Given the description of an element on the screen output the (x, y) to click on. 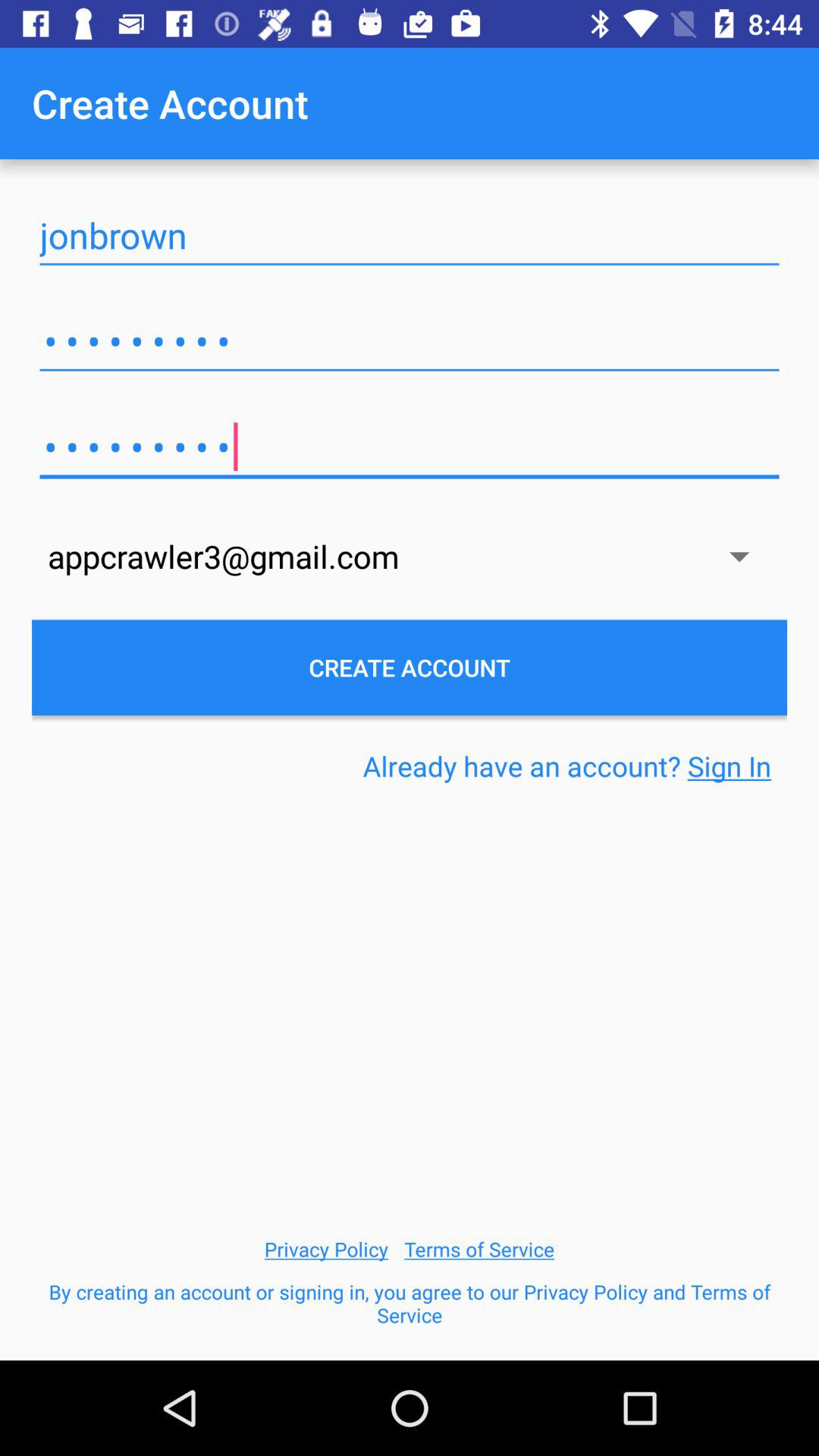
turn off the jonbrown (409, 235)
